Given the description of an element on the screen output the (x, y) to click on. 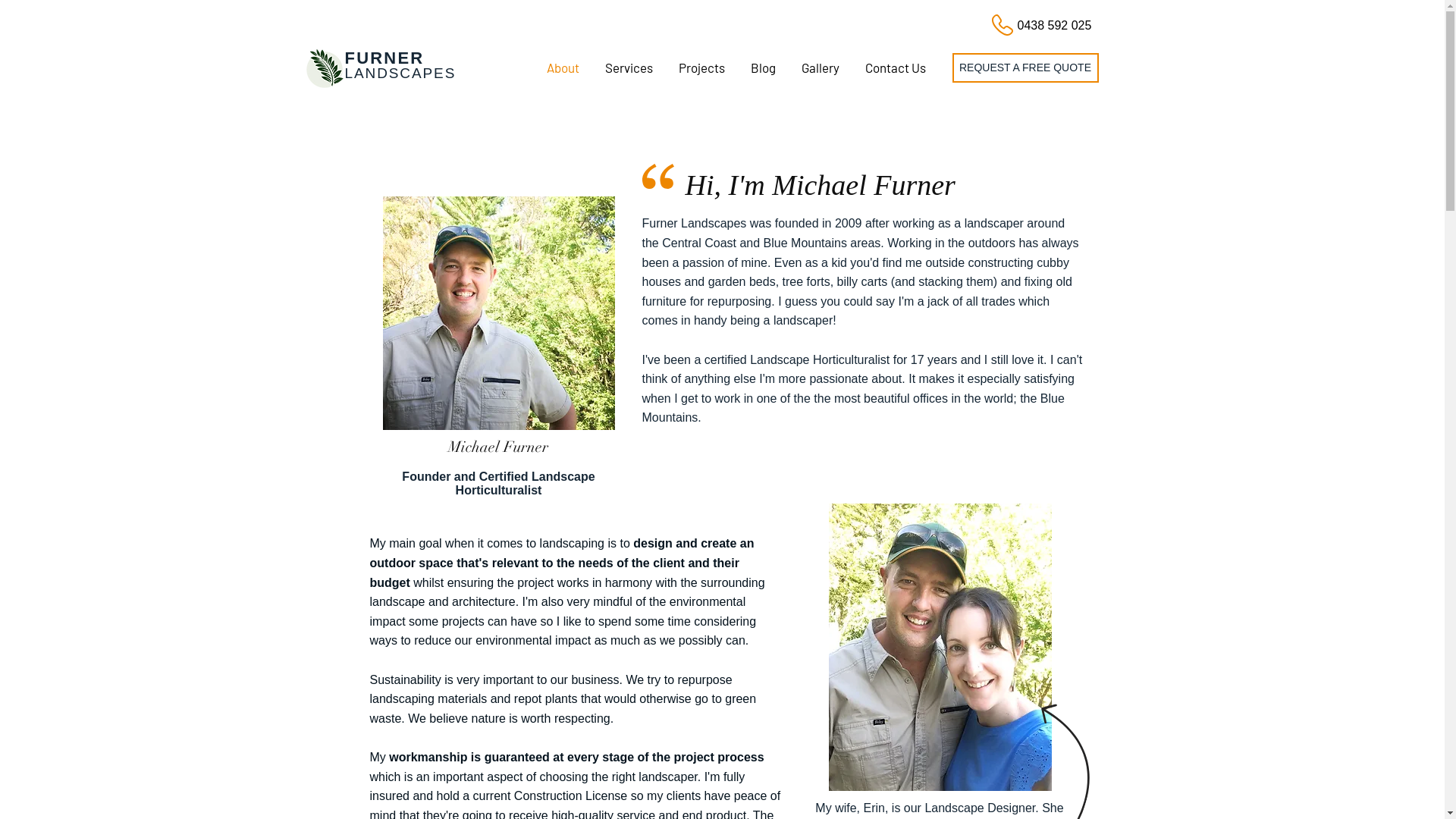
Contact Us Element type: text (895, 67)
Gallery Element type: text (820, 67)
FURNER Element type: text (383, 57)
Projects Element type: text (701, 67)
LANDSCAPES Element type: text (399, 73)
Blog Element type: text (762, 67)
guy2.jpg Element type: hover (498, 312)
About Element type: text (562, 67)
REQUEST A FREE QUOTE Element type: text (1025, 67)
Services Element type: text (628, 67)
